Given the description of an element on the screen output the (x, y) to click on. 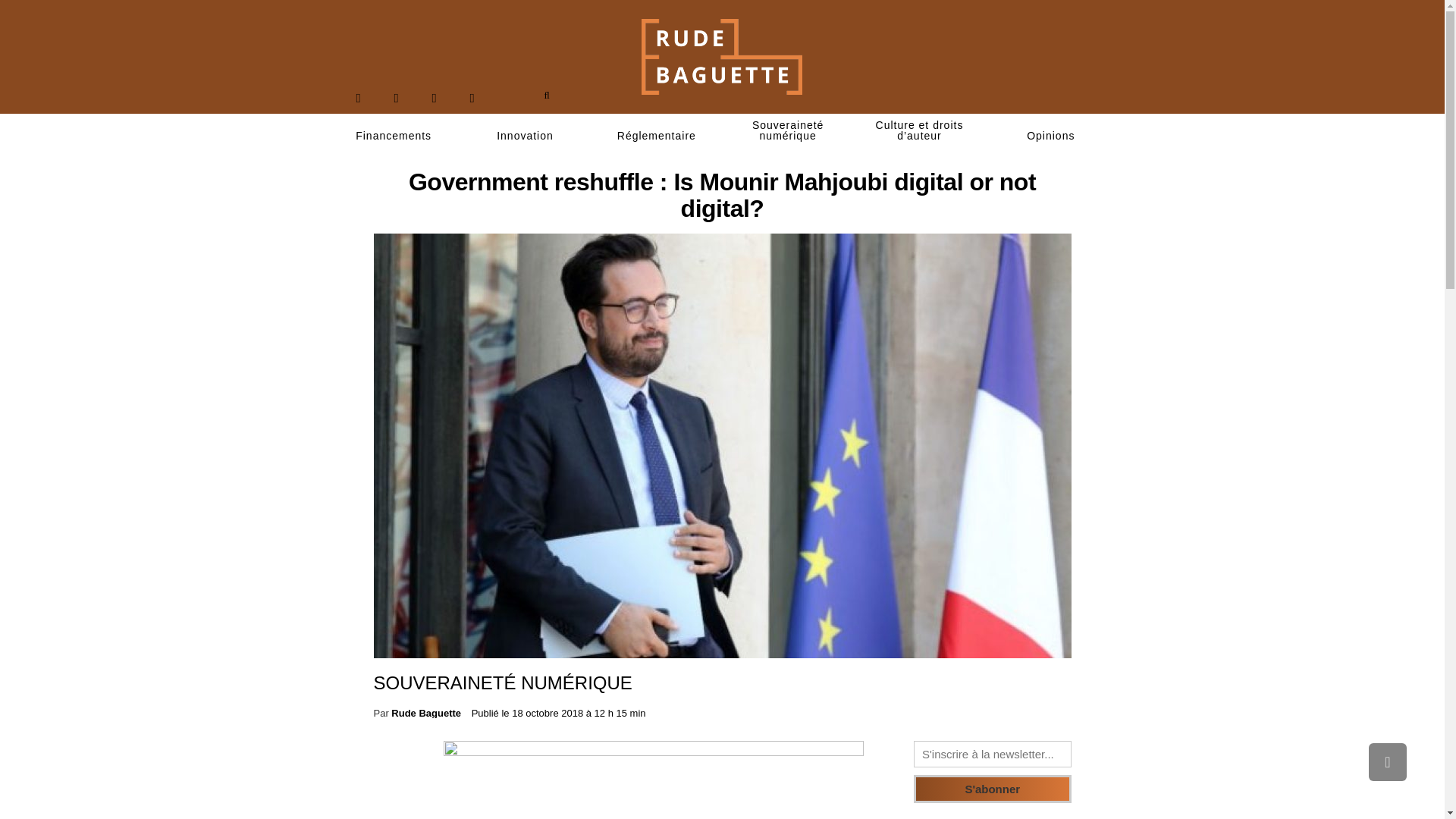
Scroll to top (1387, 761)
S'abonner (992, 788)
LinkedIn (434, 97)
Facebook (358, 97)
Twitter (396, 97)
Rude Baguette (426, 713)
RSS (472, 97)
Innovation (524, 135)
Scroll to top (1387, 761)
Scroll to top (1387, 761)
Financements (393, 135)
S'abonner (992, 788)
Articles par Rude Baguette (426, 713)
Opinions (1051, 135)
